Given the description of an element on the screen output the (x, y) to click on. 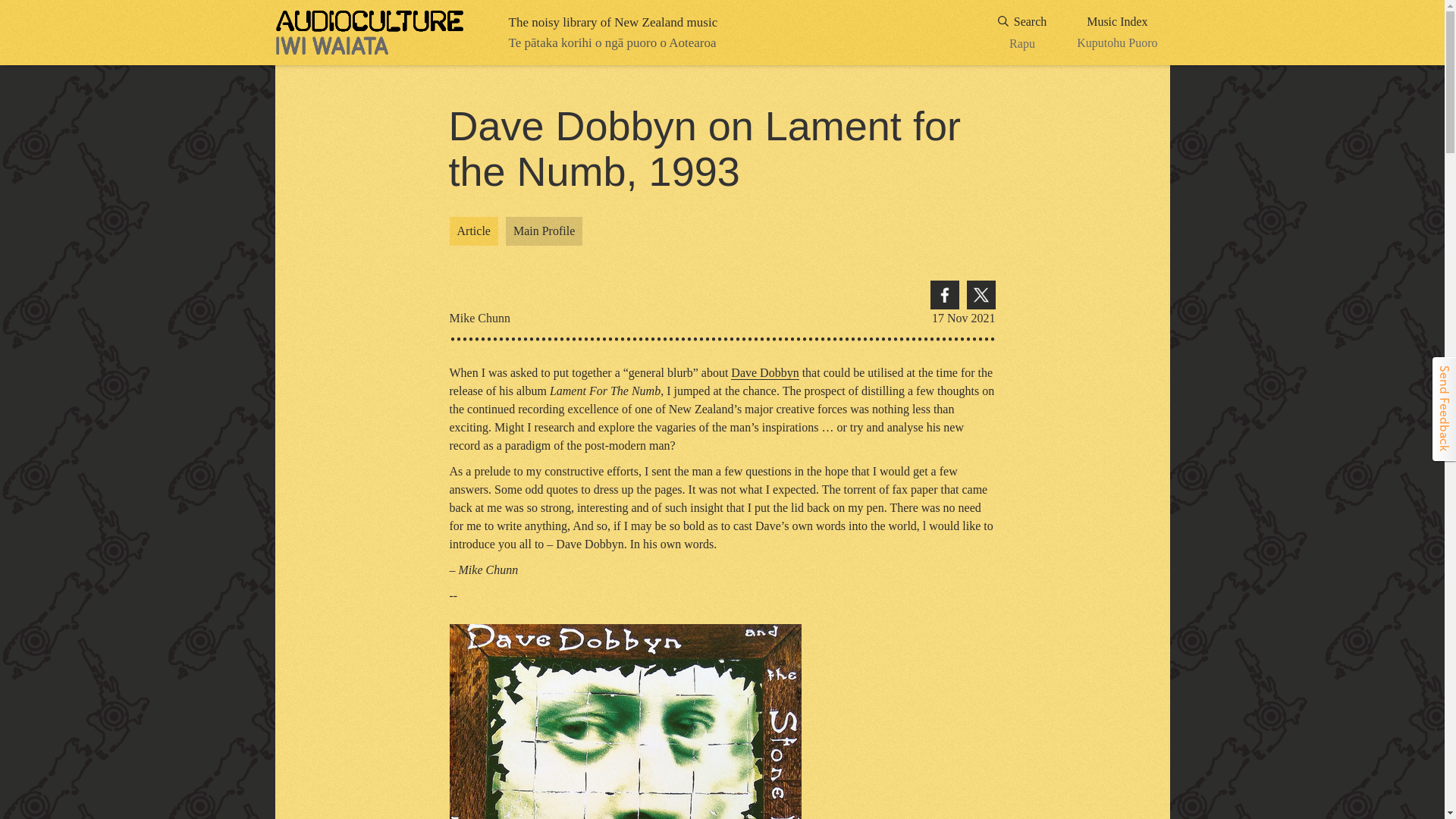
Dave Dobbyn (1117, 32)
Dave Dobbyn (763, 373)
Main Profile (763, 373)
AudioCulture (543, 231)
Article (369, 32)
Twitter (472, 231)
Facebook (1022, 32)
